Given the description of an element on the screen output the (x, y) to click on. 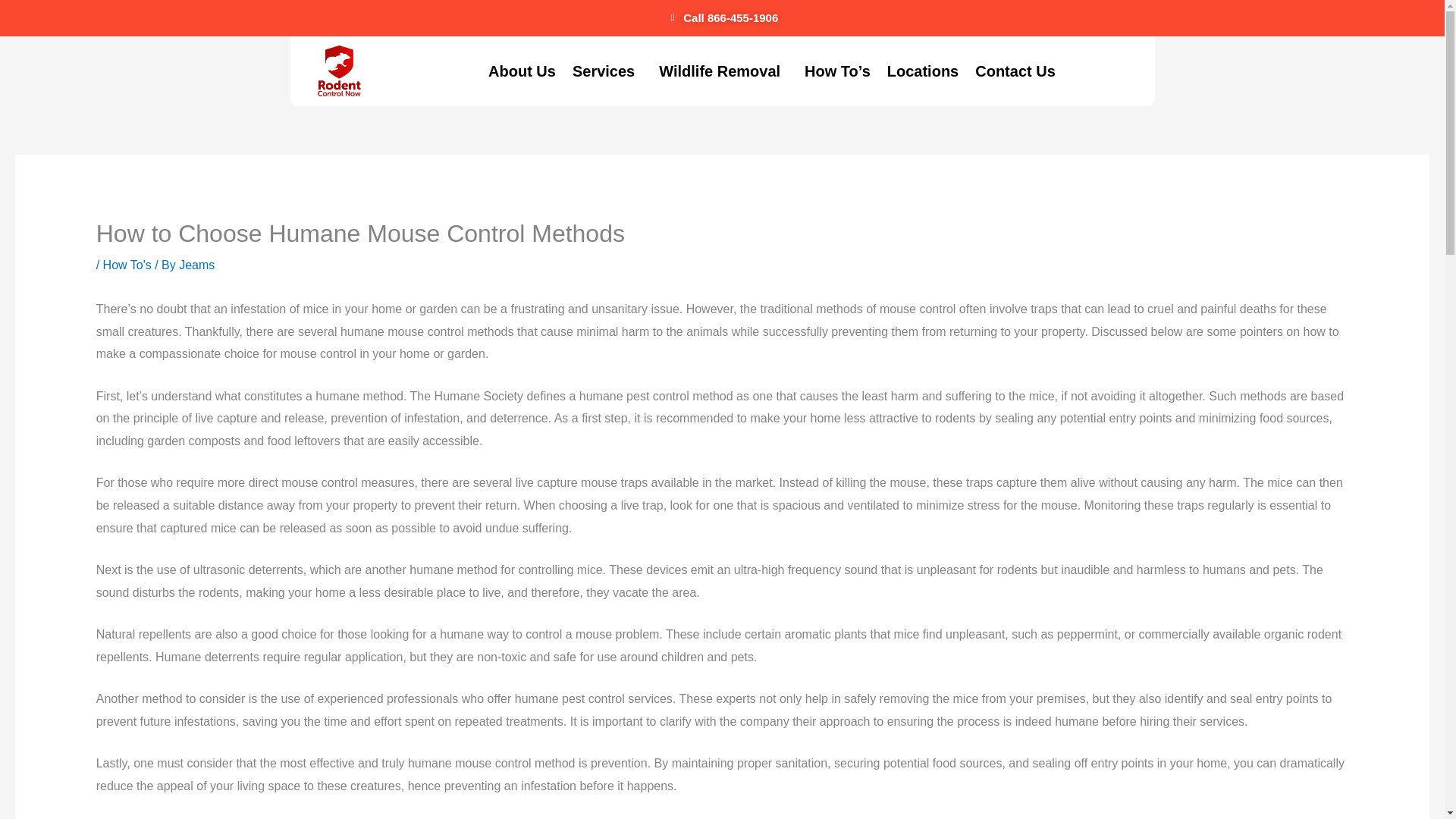
About Us (522, 71)
Contact Us (1015, 71)
Wildlife Removal (723, 71)
How To's (127, 264)
Jeams (196, 264)
Locations (922, 71)
Services (607, 71)
Call 866-455-1906 (722, 17)
View all posts by Jeams (196, 264)
